Given the description of an element on the screen output the (x, y) to click on. 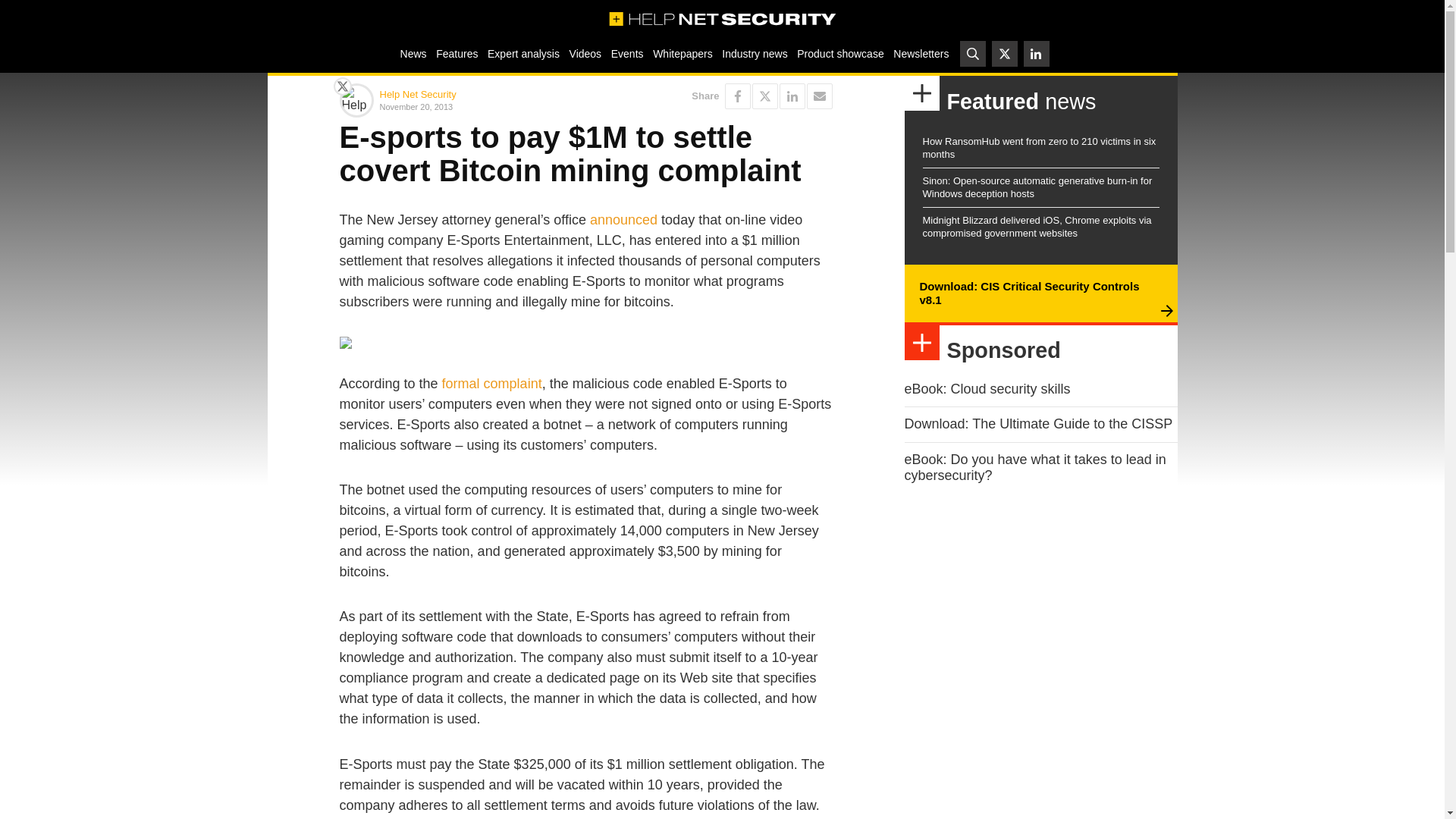
Download: CIS Critical Security Controls v8.1 (1028, 293)
Whitepapers (682, 53)
Videos (584, 53)
Events (626, 53)
Product showcase (840, 53)
How RansomHub went from zero to 210 victims in six months (1038, 147)
Industry news (754, 53)
Features (456, 53)
Newsletters (920, 53)
News (412, 53)
